Given the description of an element on the screen output the (x, y) to click on. 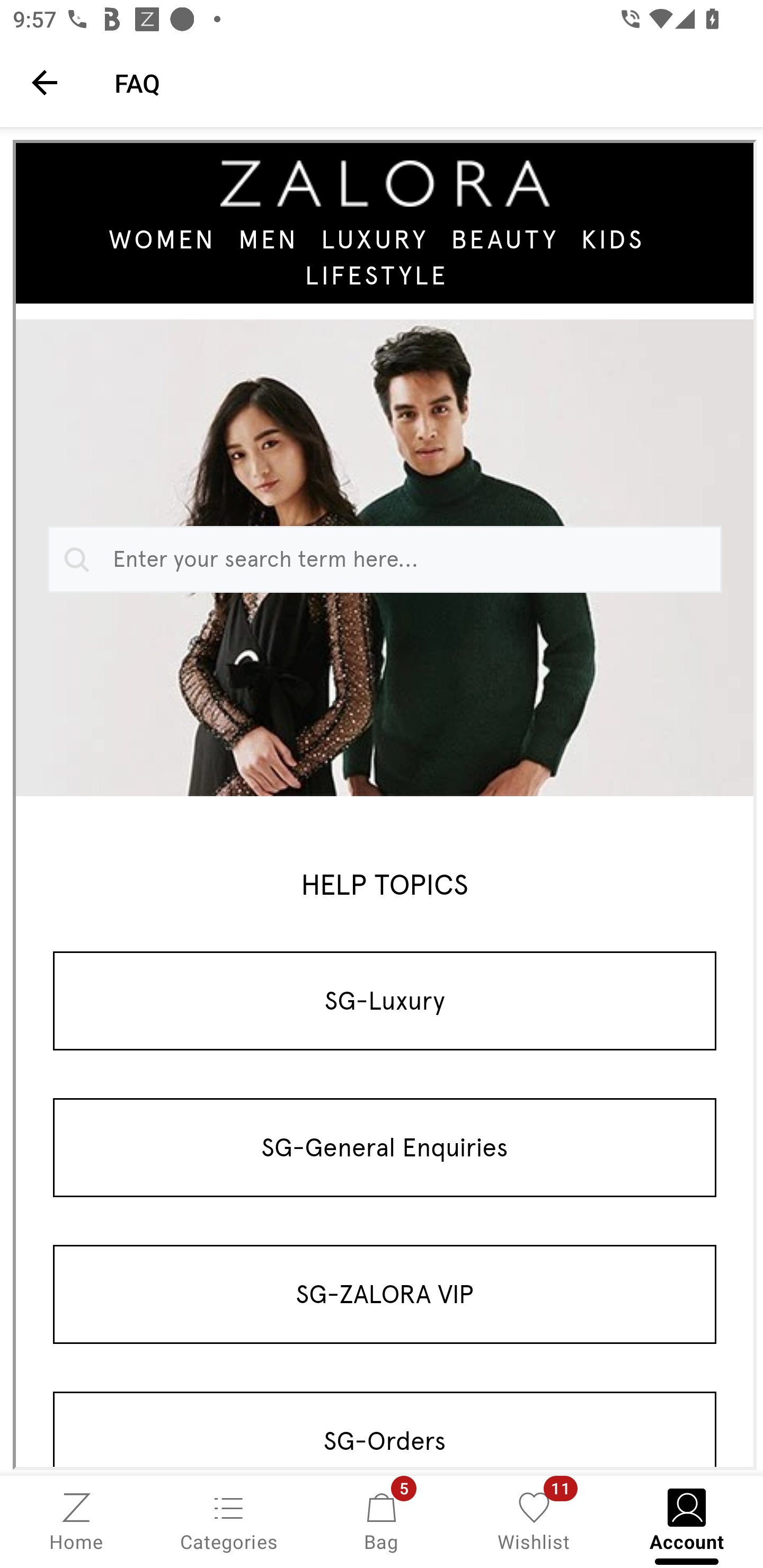
Navigate up (44, 82)
FAQ (426, 82)
logo (384, 182)
WOMEN (162, 239)
MEN (268, 239)
LUXURY (374, 239)
BEAUTY (504, 239)
KIDS (612, 239)
LIFESTYLE (376, 274)
Search (72, 559)
SG-Luxury (384, 999)
SG-General Enquiries (384, 1146)
SG-ZALORA VIP (384, 1294)
SG-Orders (384, 1429)
Home (76, 1519)
Categories (228, 1519)
Bag, 5 new notifications Bag (381, 1519)
Wishlist, 11 new notifications Wishlist (533, 1519)
